Given the description of an element on the screen output the (x, y) to click on. 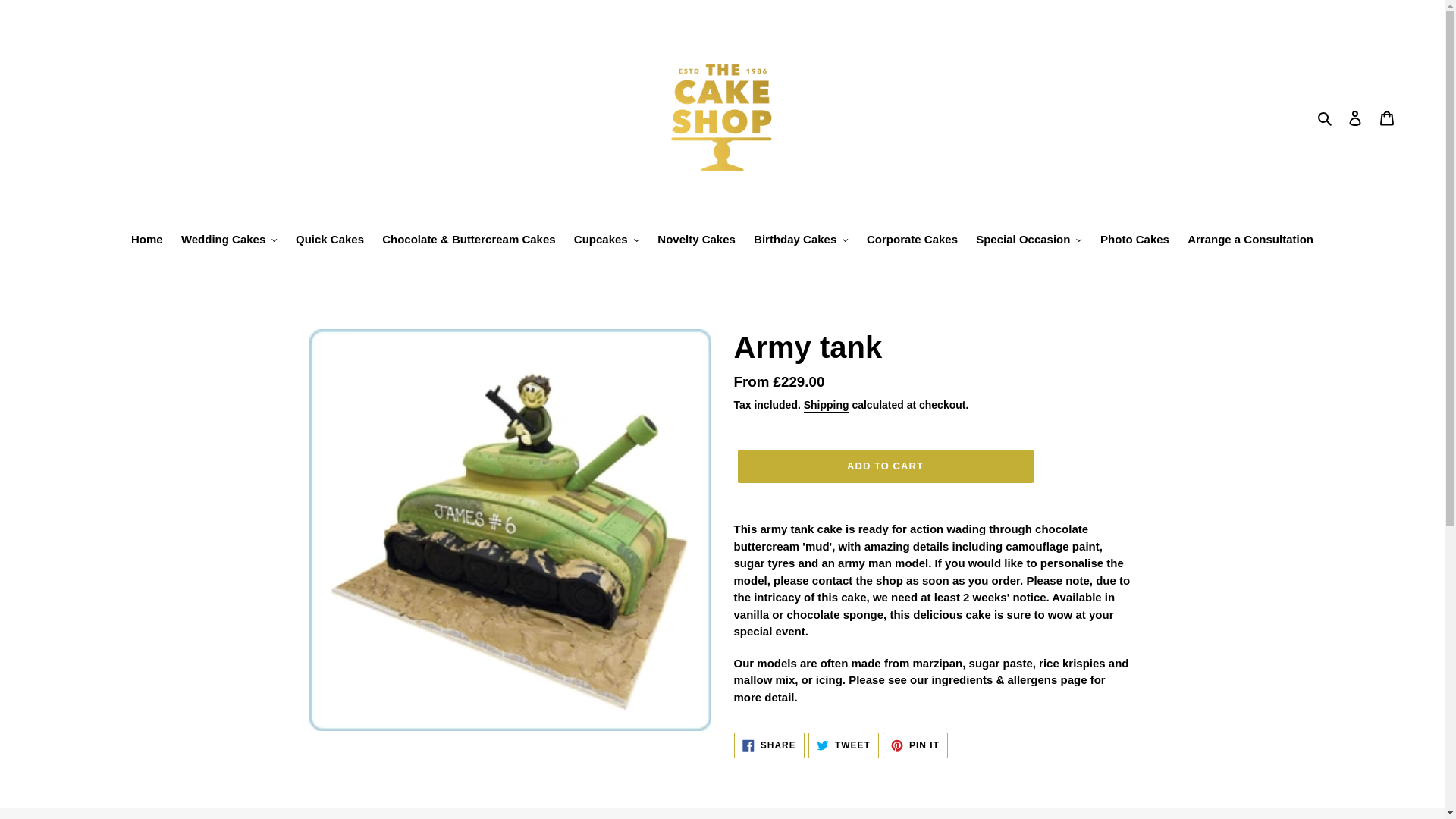
Cart (1387, 117)
Log in (1355, 117)
Search (1326, 117)
